Given the description of an element on the screen output the (x, y) to click on. 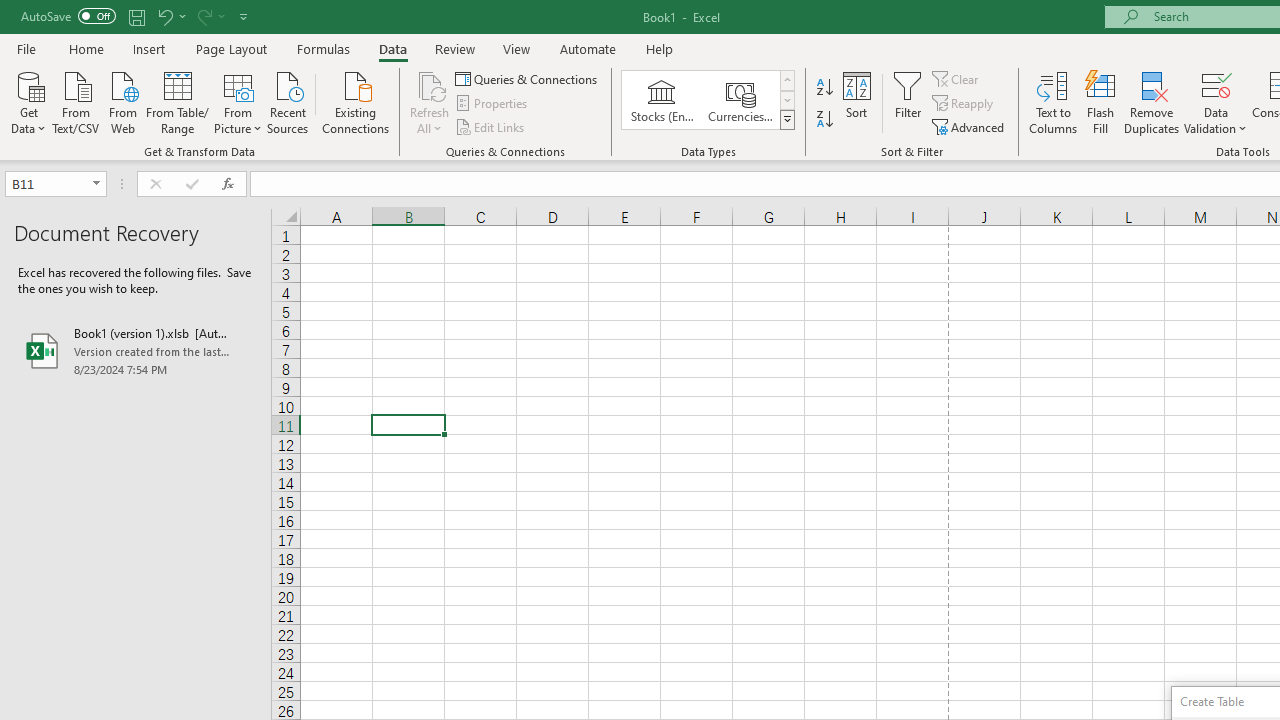
Currencies (English) (740, 100)
Sort A to Z (824, 87)
Recent Sources (287, 101)
Text to Columns... (1053, 102)
Sort... (856, 102)
Flash Fill (1101, 102)
Filter (908, 102)
